Given the description of an element on the screen output the (x, y) to click on. 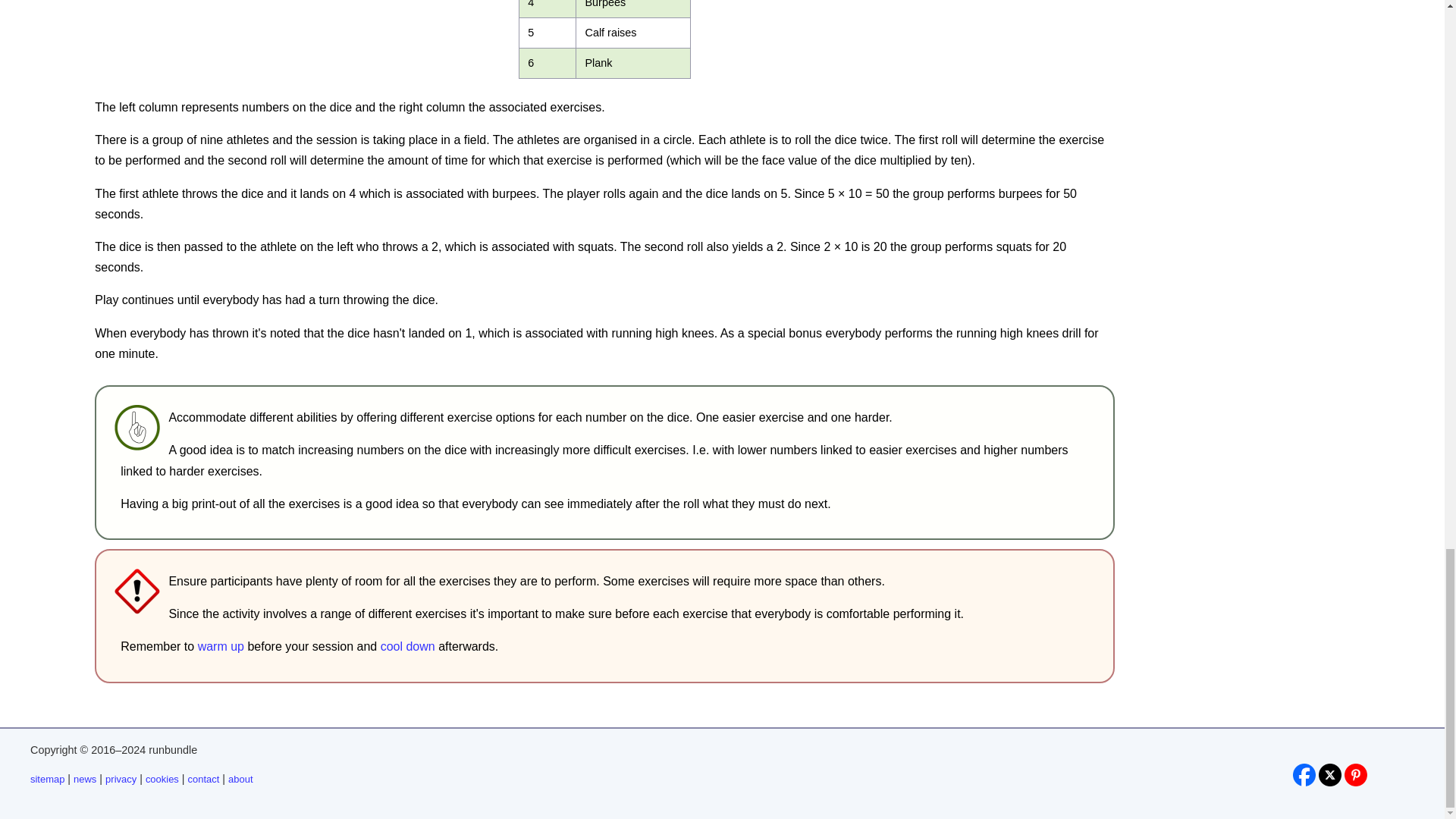
privacy (120, 778)
about (239, 778)
contact (203, 778)
cool down (407, 645)
sitemap (47, 778)
warm up (221, 645)
Pinterest (1355, 774)
X (1329, 774)
news (85, 778)
cookies (162, 778)
